Given the description of an element on the screen output the (x, y) to click on. 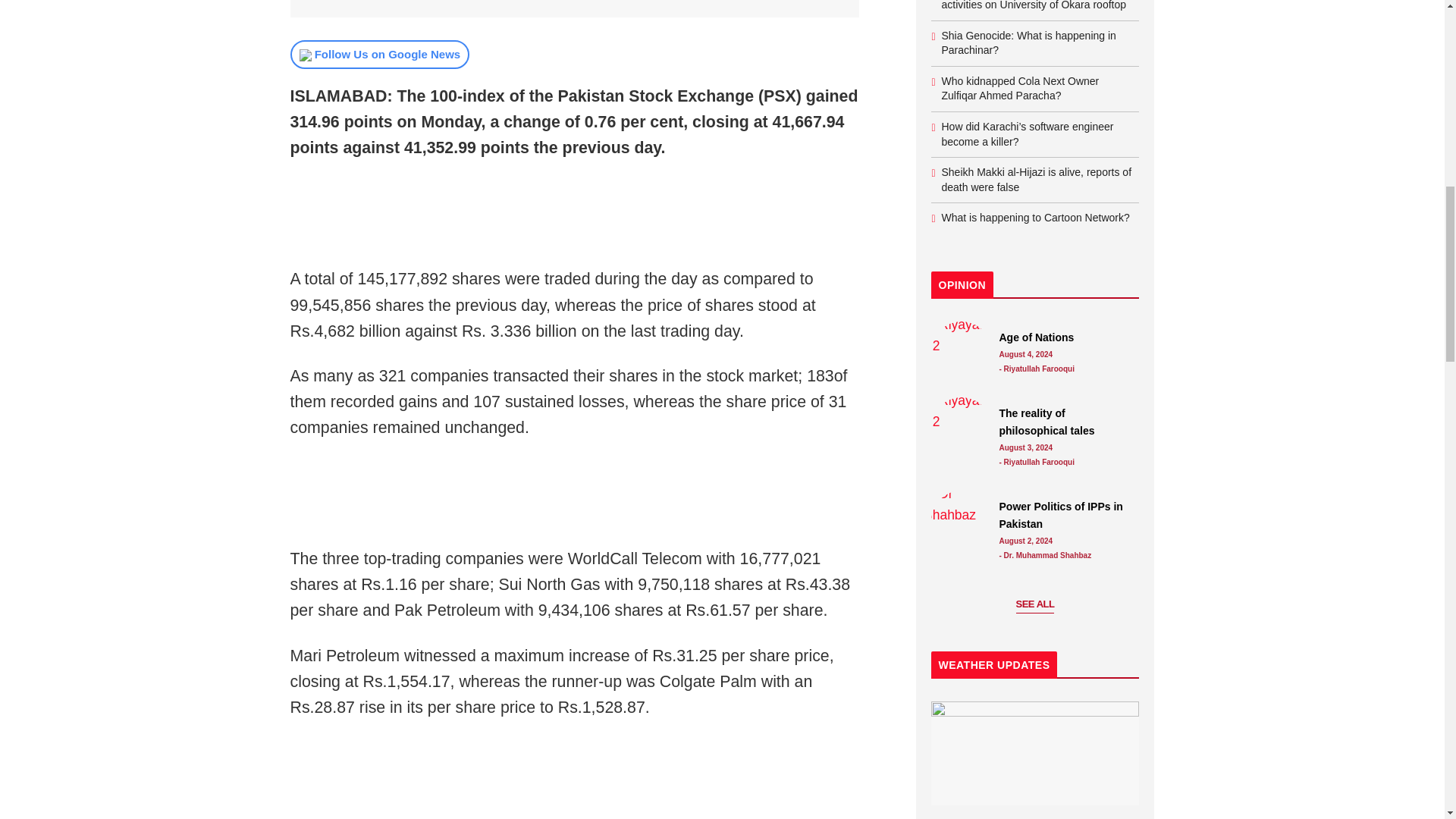
Power Politics of IPPs in Pakistan (1065, 514)
The reality of philosophical tales (1065, 421)
Age of Nations (1065, 337)
Age of Nations (961, 351)
The reality of philosophical tales (961, 427)
Power Politics of IPPs in Pakistan (961, 520)
